Given the description of an element on the screen output the (x, y) to click on. 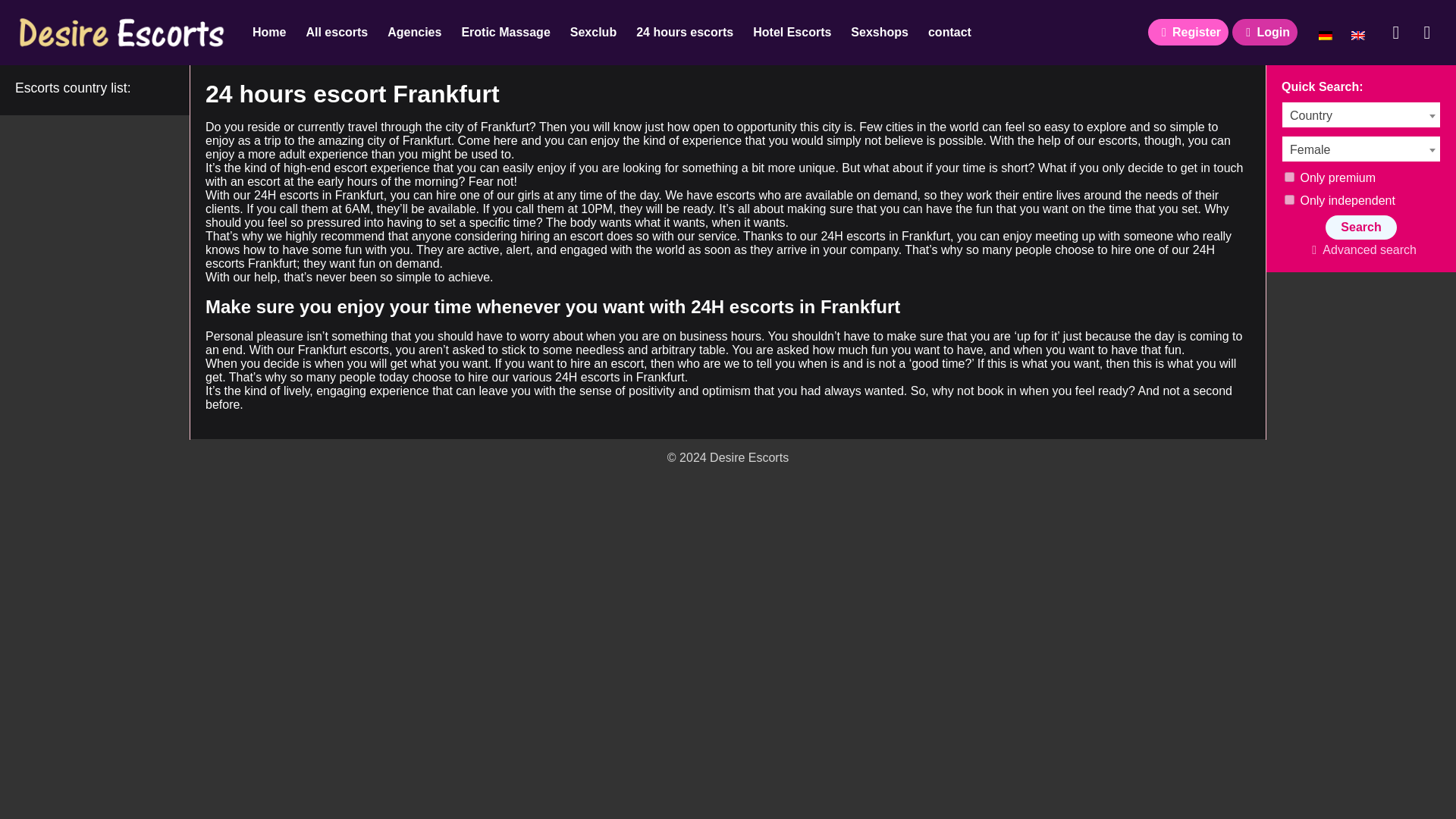
Register (1188, 31)
Search (1360, 227)
Search (1395, 31)
Erotic Massage (505, 33)
Sexshops (879, 33)
Country (1360, 115)
Hotel Escorts (791, 33)
Login (1264, 31)
1 (1289, 176)
All escorts (336, 33)
Search (1360, 227)
Sexclub (593, 33)
Agencies (414, 33)
contact (949, 33)
Home (269, 33)
